Given the description of an element on the screen output the (x, y) to click on. 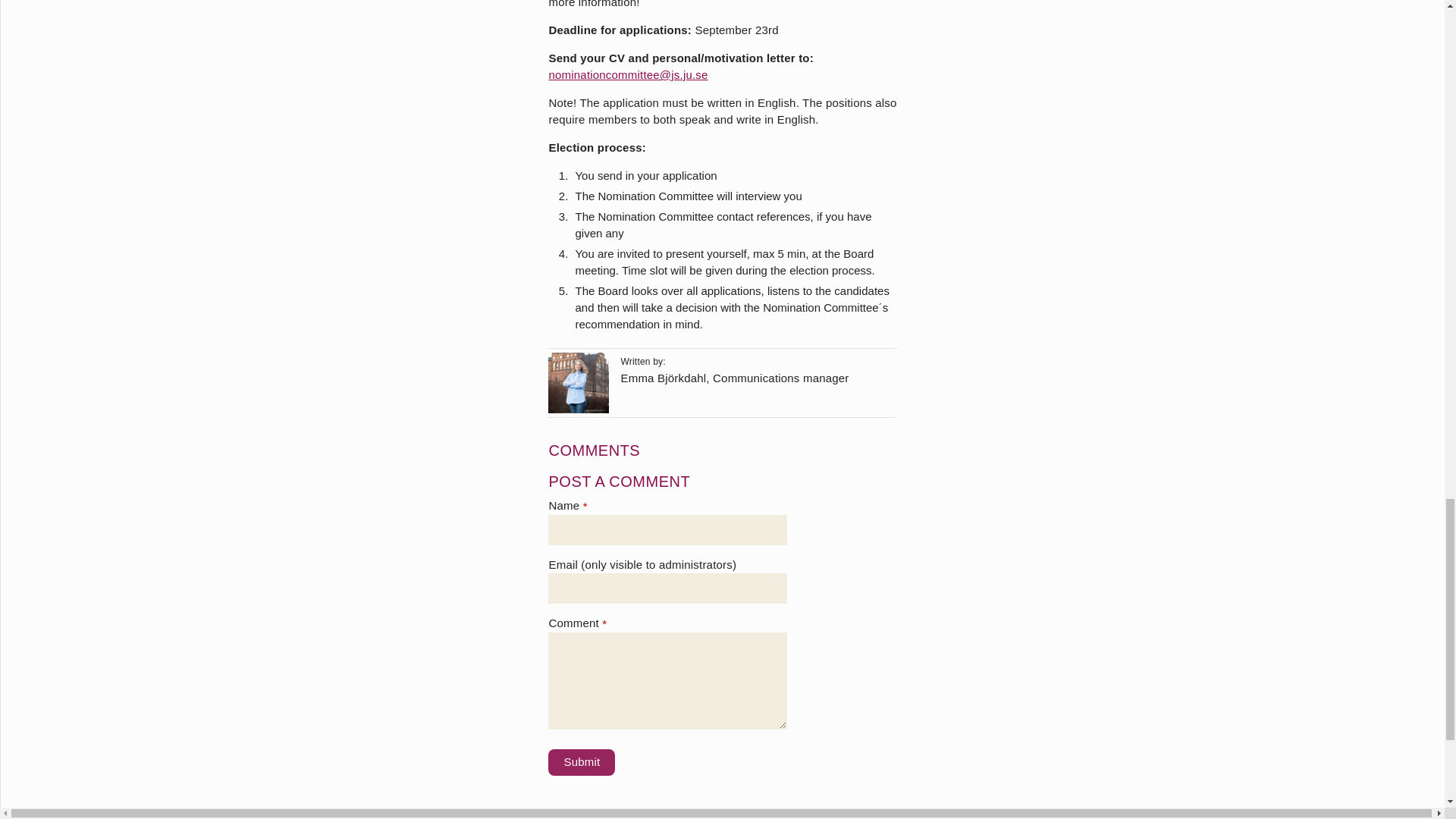
Submit (581, 762)
Submit (581, 762)
